Given the description of an element on the screen output the (x, y) to click on. 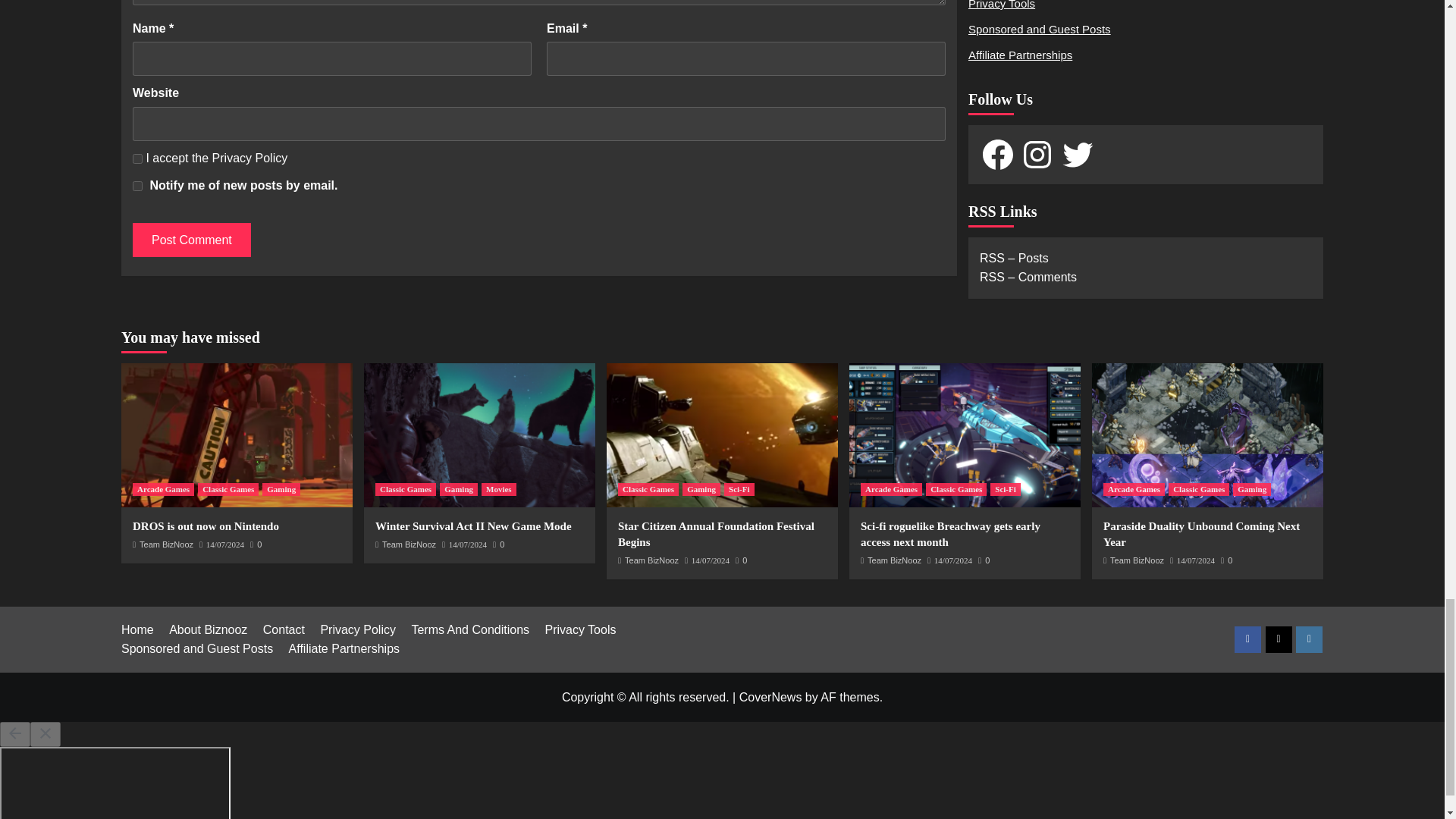
Post Comment (191, 239)
1 (137, 158)
subscribe (137, 185)
